Given the description of an element on the screen output the (x, y) to click on. 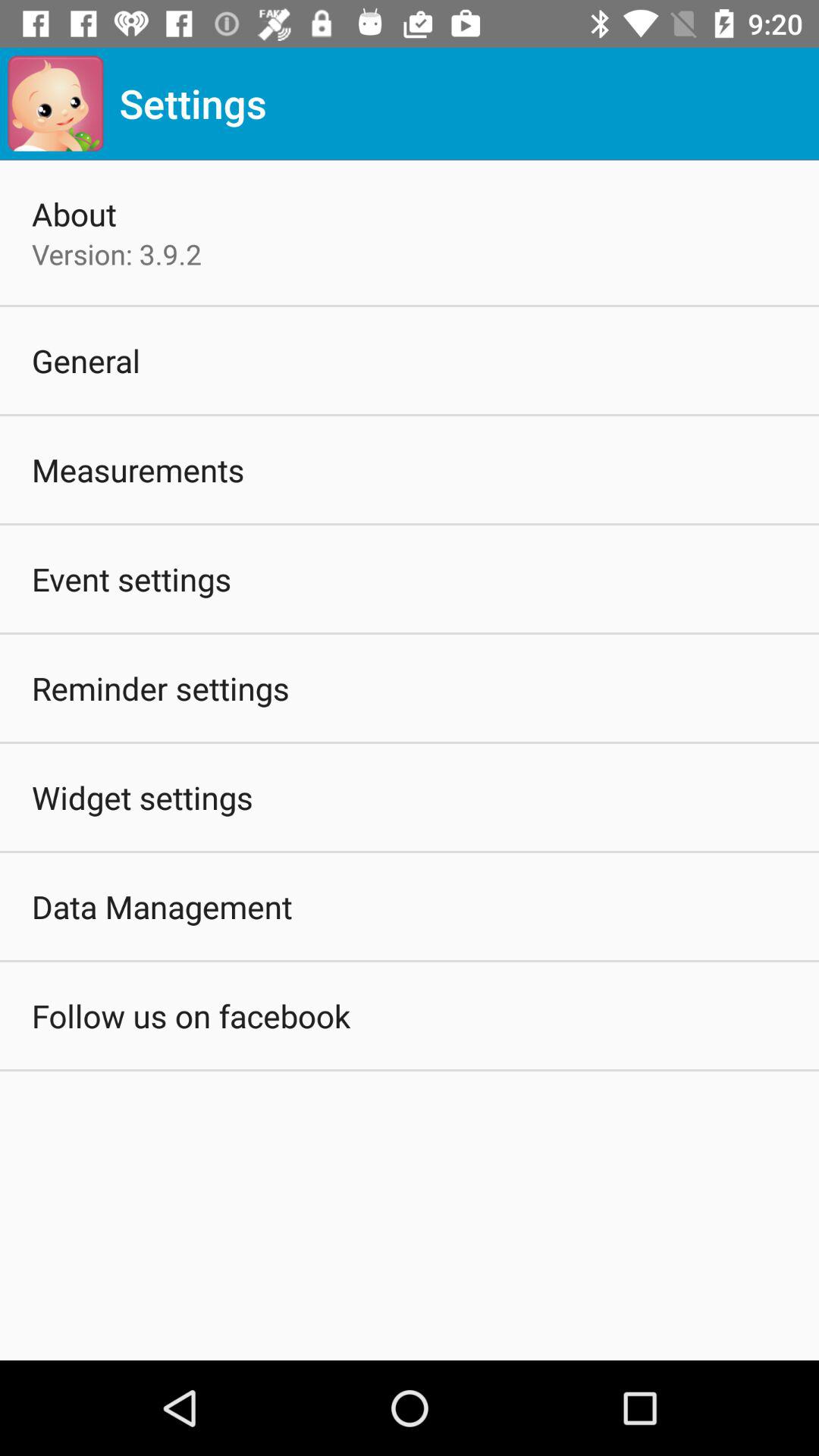
jump to follow us on icon (190, 1015)
